Given the description of an element on the screen output the (x, y) to click on. 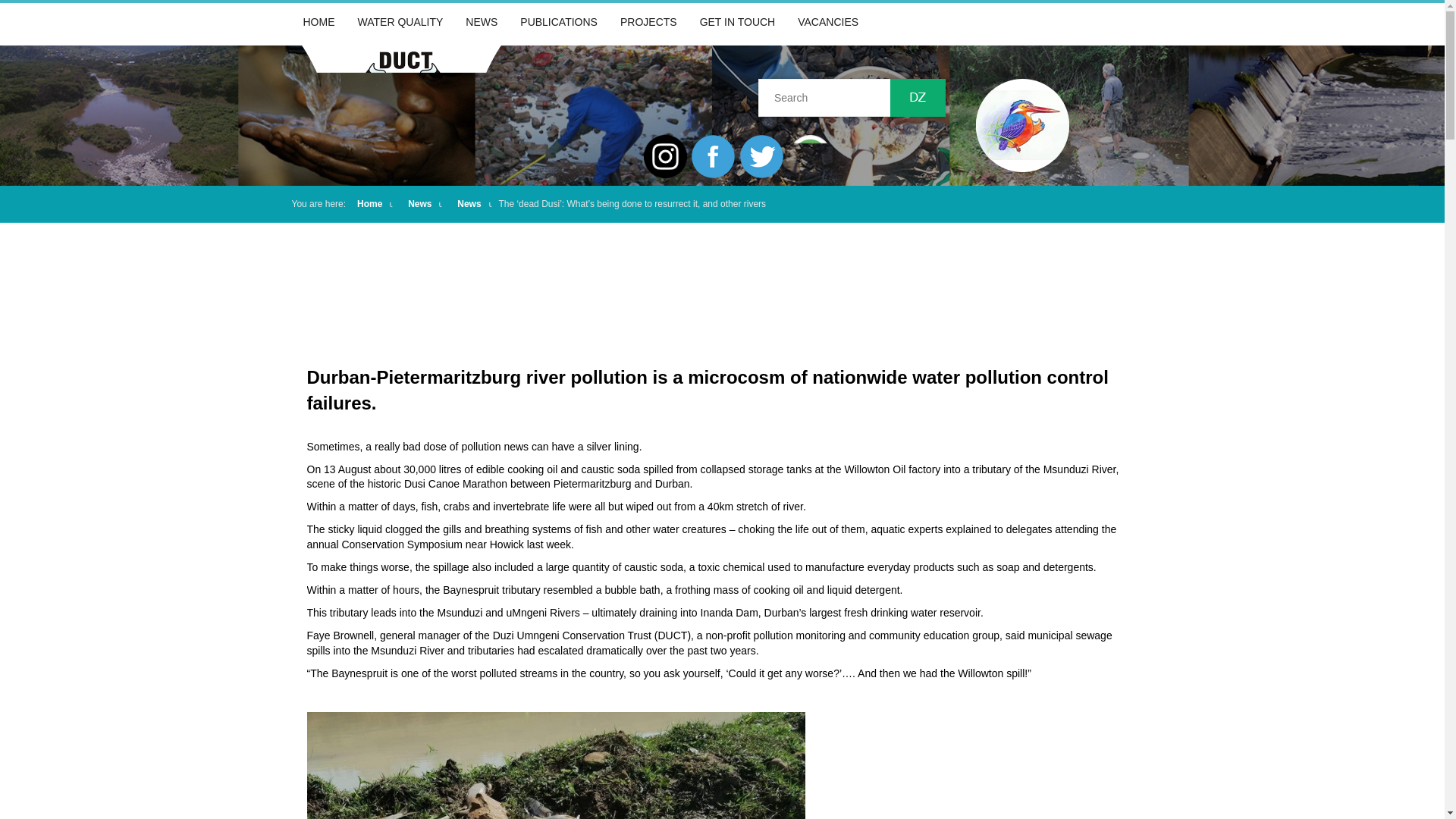
PUBLICATIONS (558, 22)
Home (368, 204)
GET IN TOUCH (737, 22)
WATER QUALITY (400, 22)
NEWS (481, 22)
News (468, 204)
VACANCIES (827, 22)
PROJECTS (648, 22)
HOME (318, 22)
News (418, 204)
